Given the description of an element on the screen output the (x, y) to click on. 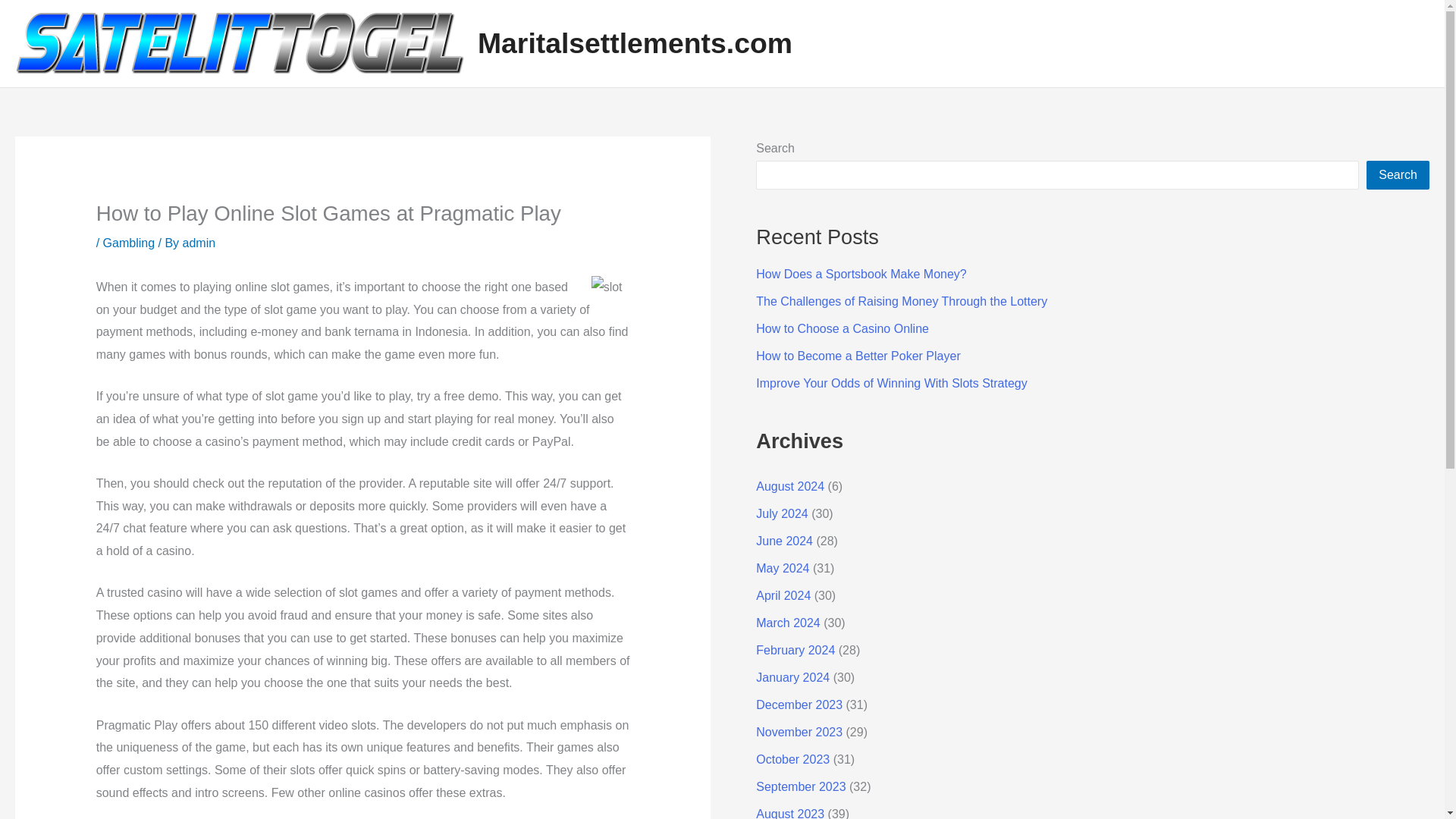
Maritalsettlements.com (634, 42)
How to Choose a Casino Online (841, 328)
View all posts by admin (199, 242)
admin (199, 242)
August 2023 (789, 813)
July 2024 (781, 513)
September 2023 (800, 786)
April 2024 (782, 594)
October 2023 (792, 758)
March 2024 (788, 622)
